Given the description of an element on the screen output the (x, y) to click on. 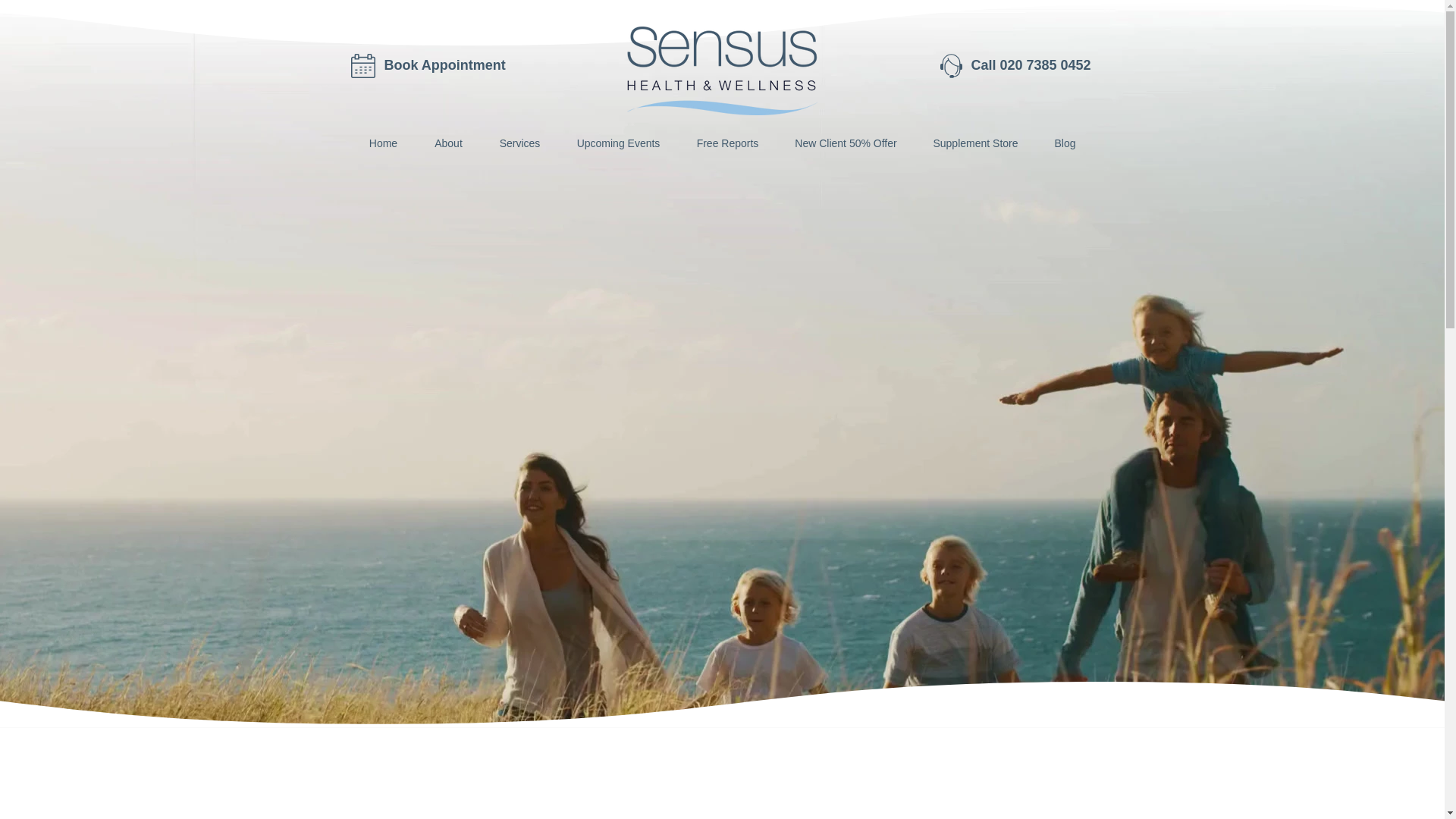
Call 020 7385 0452 (1030, 64)
Book Appointment (444, 64)
Supplement Store (974, 142)
Services (518, 142)
About (447, 142)
Home (382, 142)
Blog (1064, 142)
Upcoming Events (617, 142)
